Given the description of an element on the screen output the (x, y) to click on. 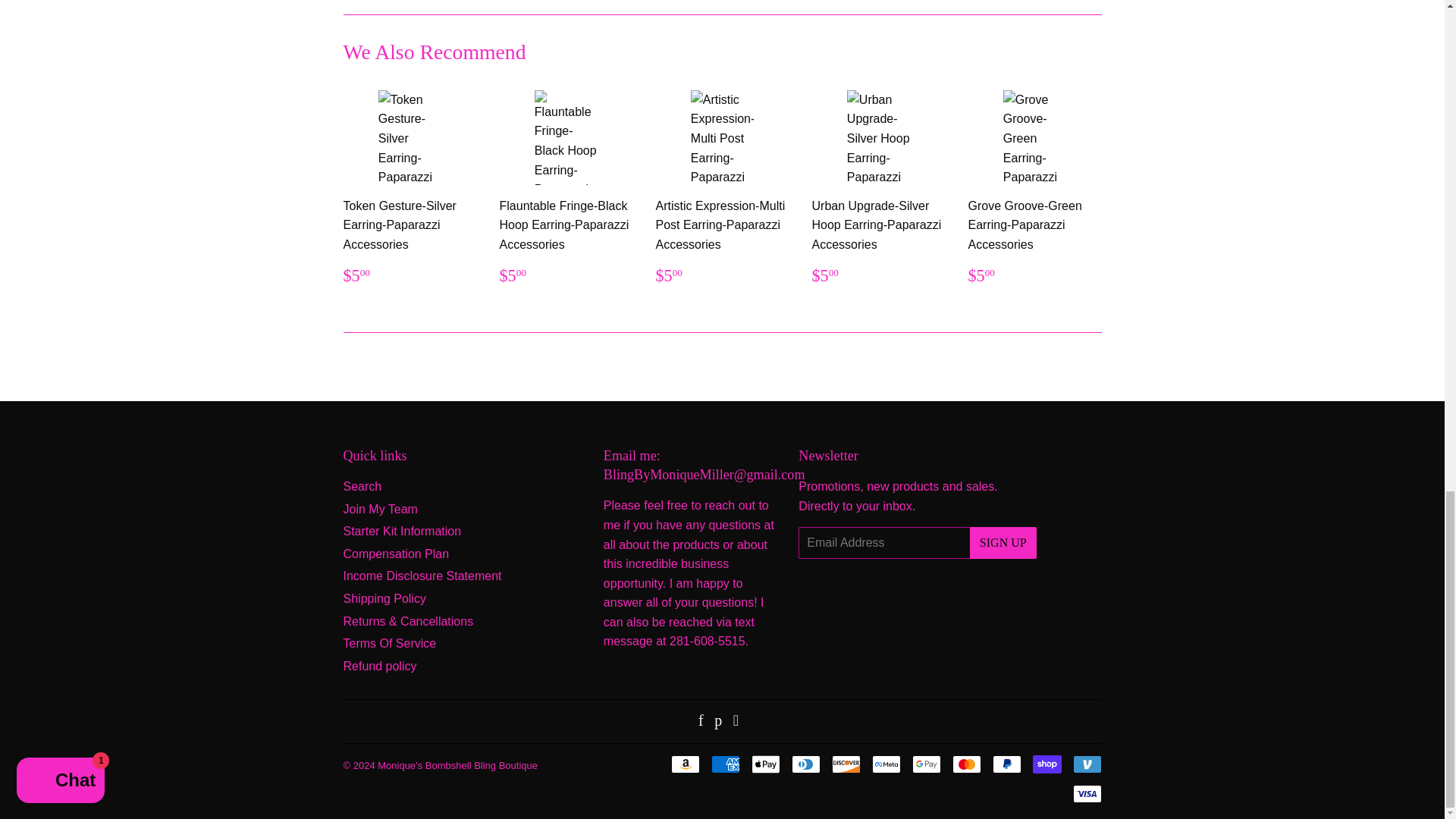
Shop Pay (1046, 764)
Google Pay (925, 764)
Mastercard (966, 764)
Visa (1085, 793)
American Express (725, 764)
Apple Pay (764, 764)
Venmo (1085, 764)
PayPal (1005, 764)
Discover (845, 764)
Diners Club (806, 764)
Amazon (683, 764)
Meta Pay (886, 764)
